Given the description of an element on the screen output the (x, y) to click on. 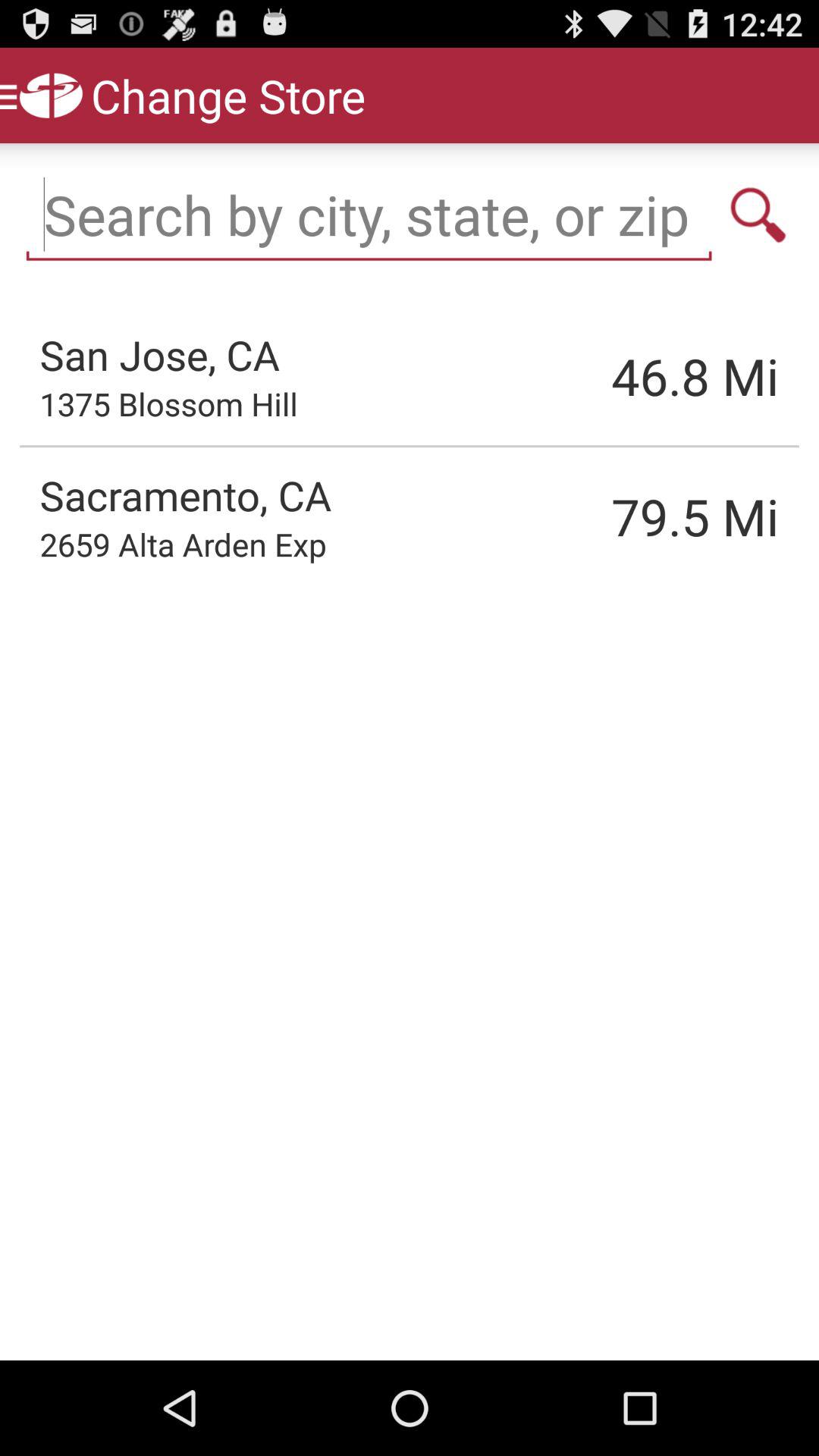
choose the icon above the  mi app (758, 215)
